Given the description of an element on the screen output the (x, y) to click on. 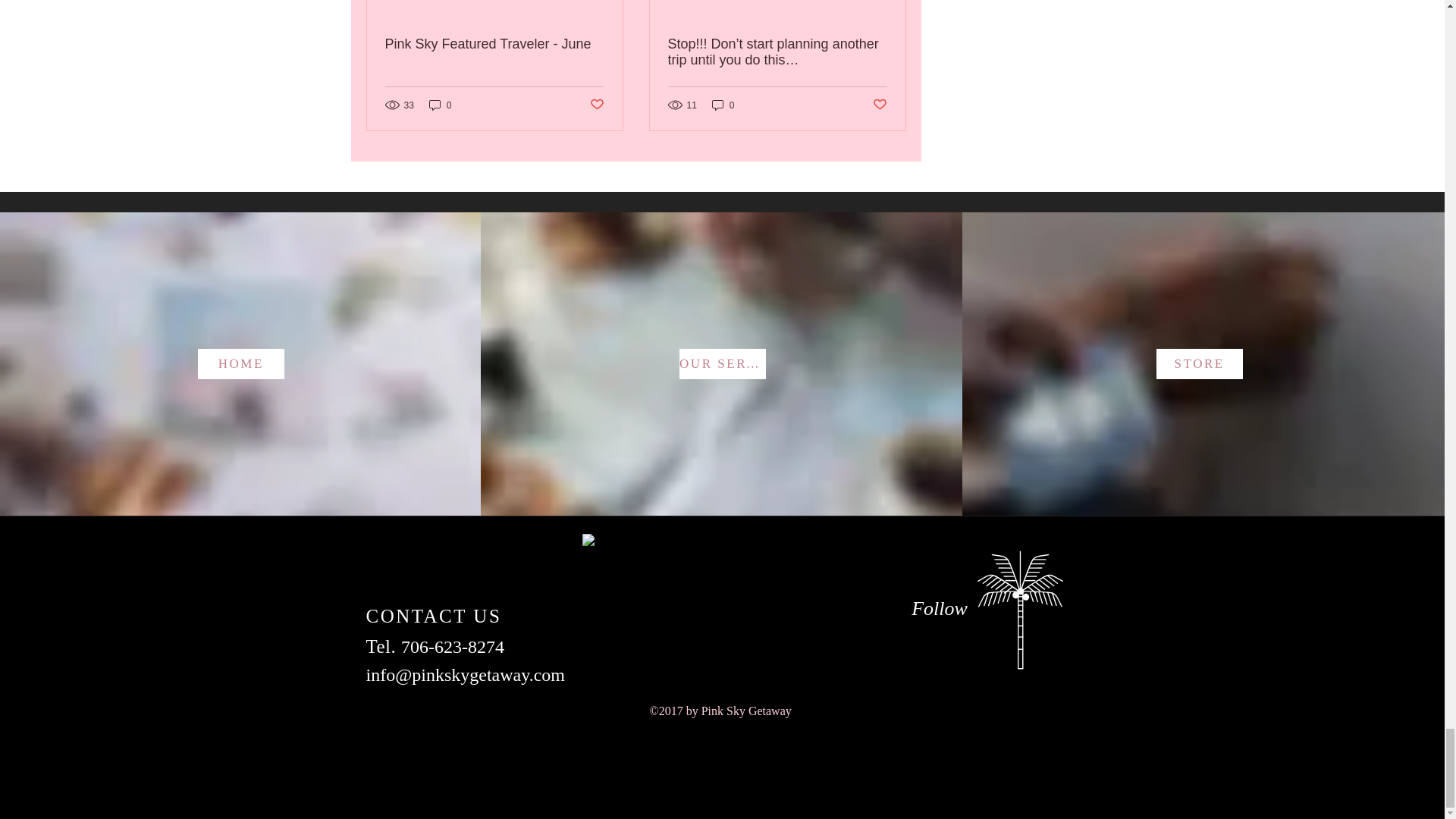
0 (723, 104)
OUR SERVICES (722, 363)
0 (440, 104)
HOME (240, 363)
Post not marked as liked (596, 105)
Post not marked as liked (879, 105)
Pink Sky Featured Traveler - June (494, 44)
STORE (1199, 363)
CONTACT US (432, 616)
